Given the description of an element on the screen output the (x, y) to click on. 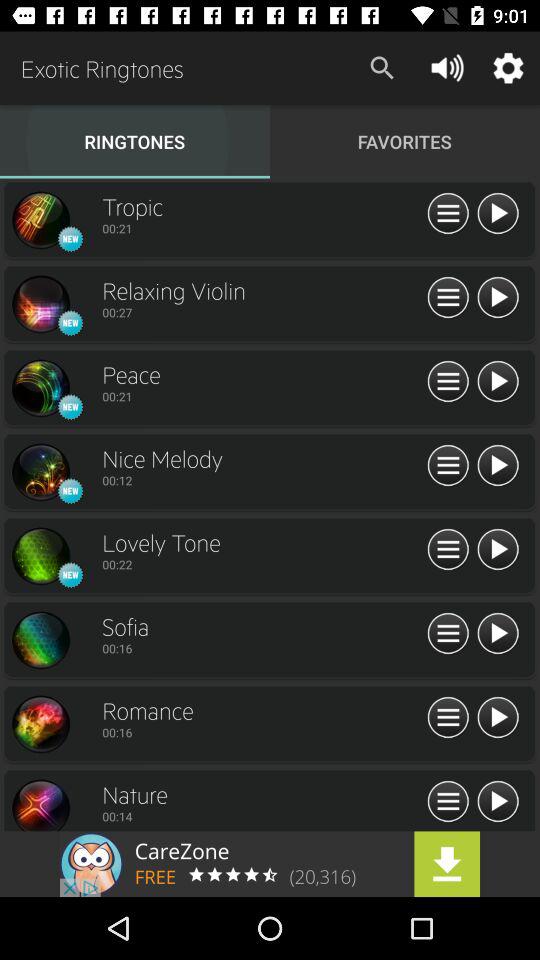
add to playlist (447, 633)
